Given the description of an element on the screen output the (x, y) to click on. 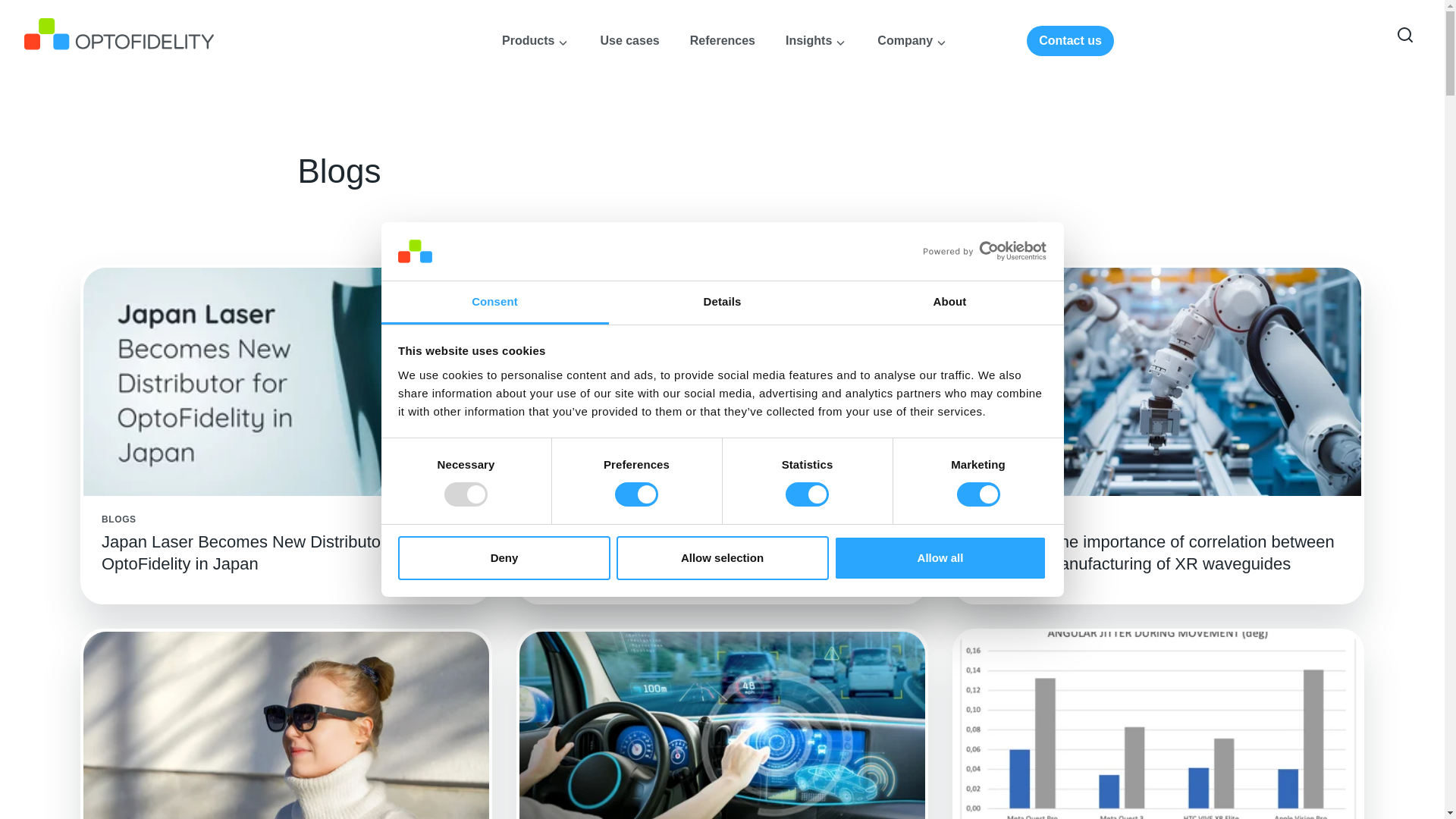
Details (721, 302)
Consent (494, 302)
About (948, 302)
